Given the description of an element on the screen output the (x, y) to click on. 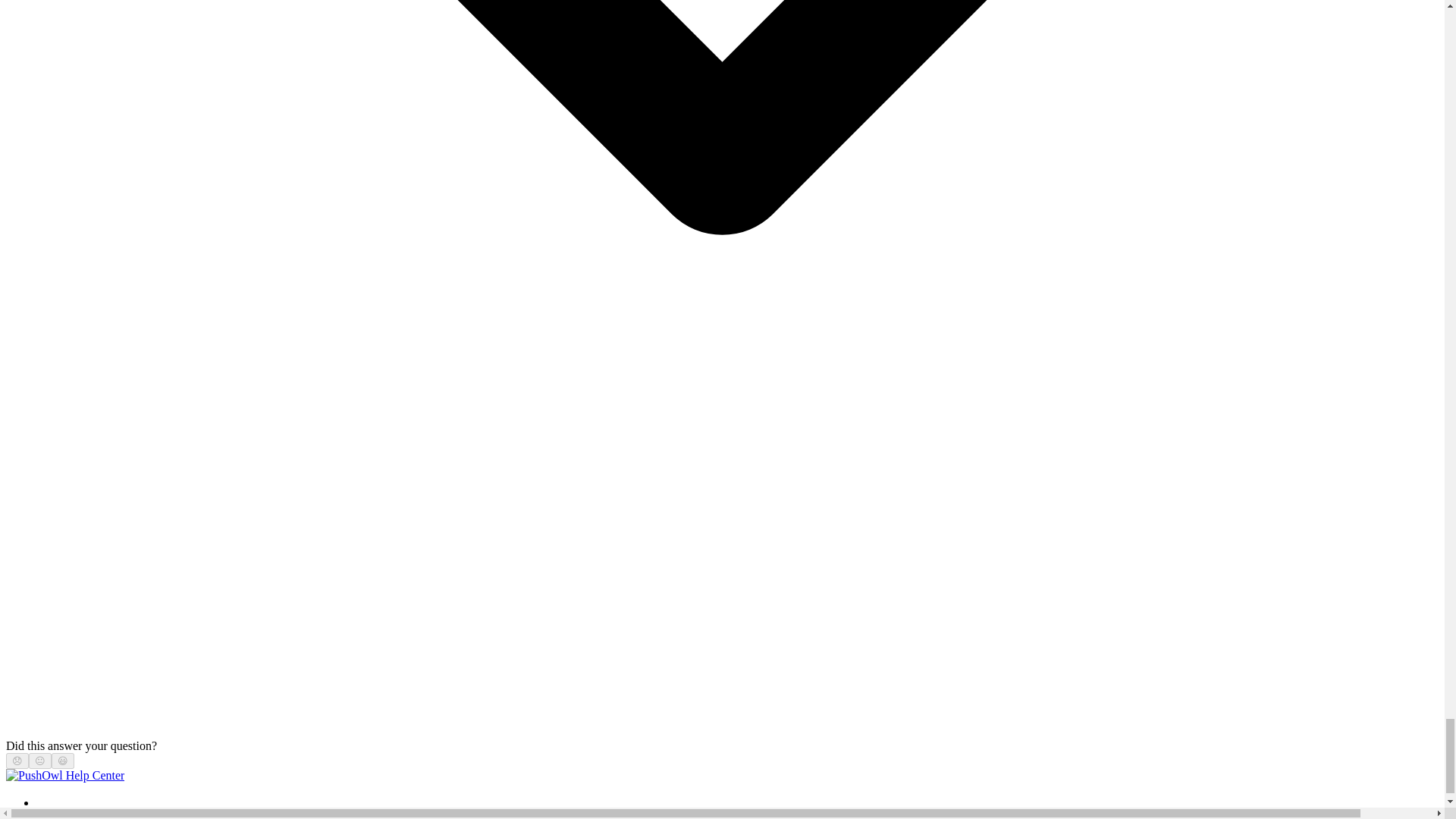
Neutral (39, 760)
Disappointed (17, 760)
Smiley (63, 760)
